Given the description of an element on the screen output the (x, y) to click on. 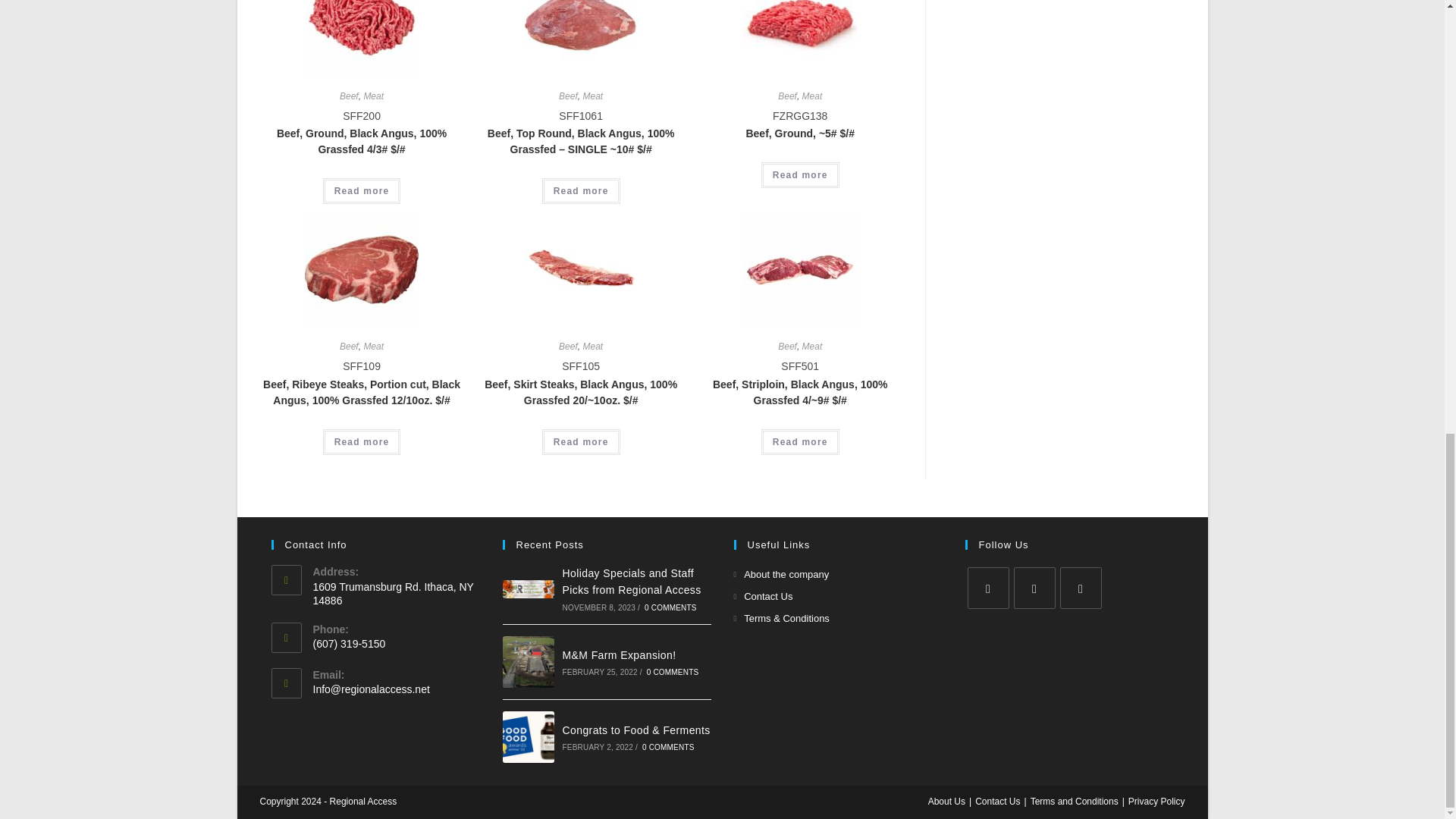
Holiday Specials and Staff Picks from Regional Access (527, 588)
